Given the description of an element on the screen output the (x, y) to click on. 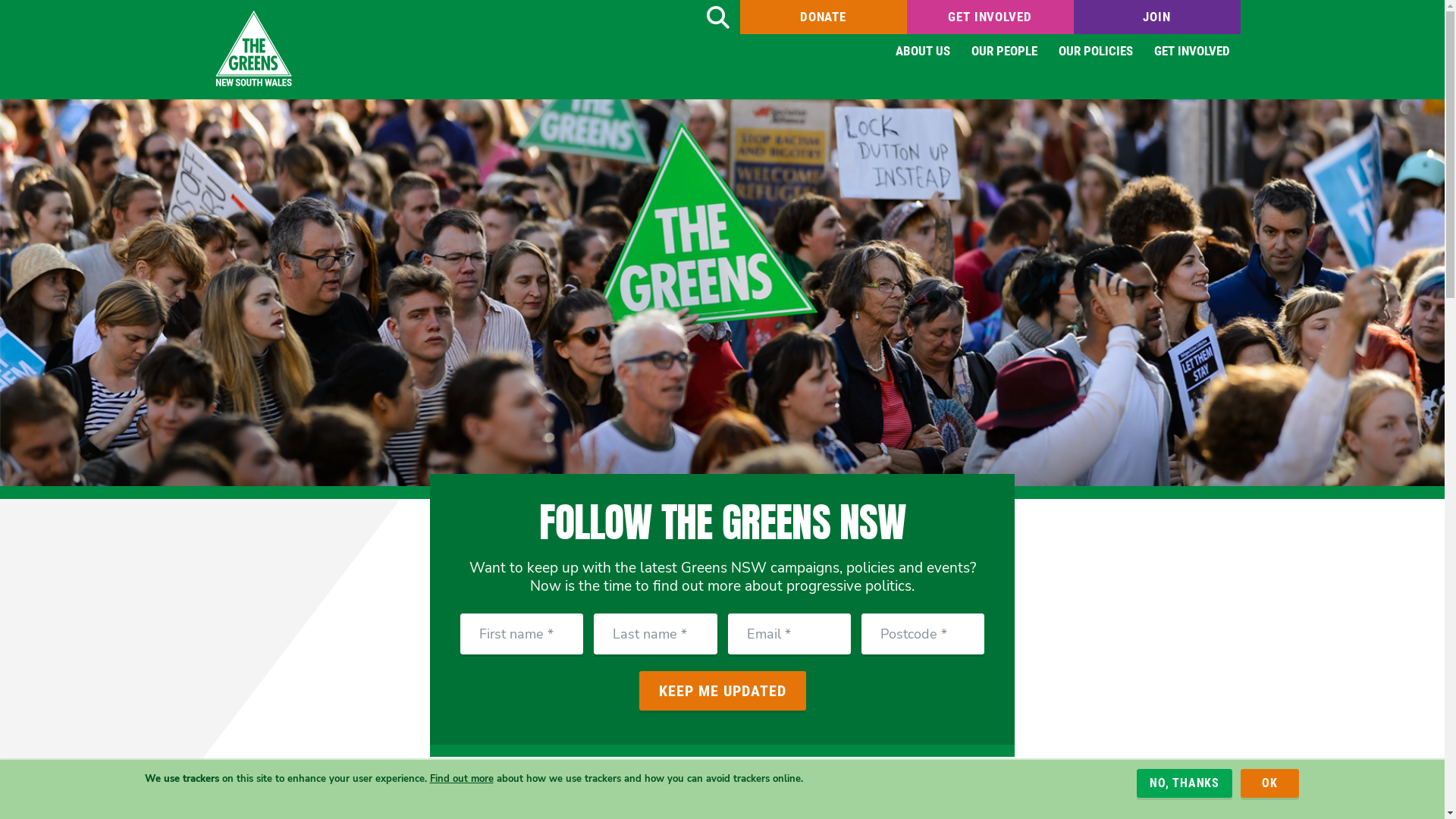
OK Element type: text (1269, 782)
GET INVOLVED Element type: text (989, 17)
NO, THANKS Element type: text (1184, 782)
GET INVOLVED Element type: text (1191, 51)
ABOUT US Element type: text (922, 51)
Find out more Element type: text (460, 778)
Skip to main content Element type: text (0, 0)
OUR POLICIES Element type: text (1095, 51)
DONATE Element type: text (823, 17)
JOIN Element type: text (1156, 17)
KEEP ME UPDATED Element type: text (721, 690)
Search Element type: text (716, 17)
OUR PEOPLE Element type: text (1003, 51)
